Given the description of an element on the screen output the (x, y) to click on. 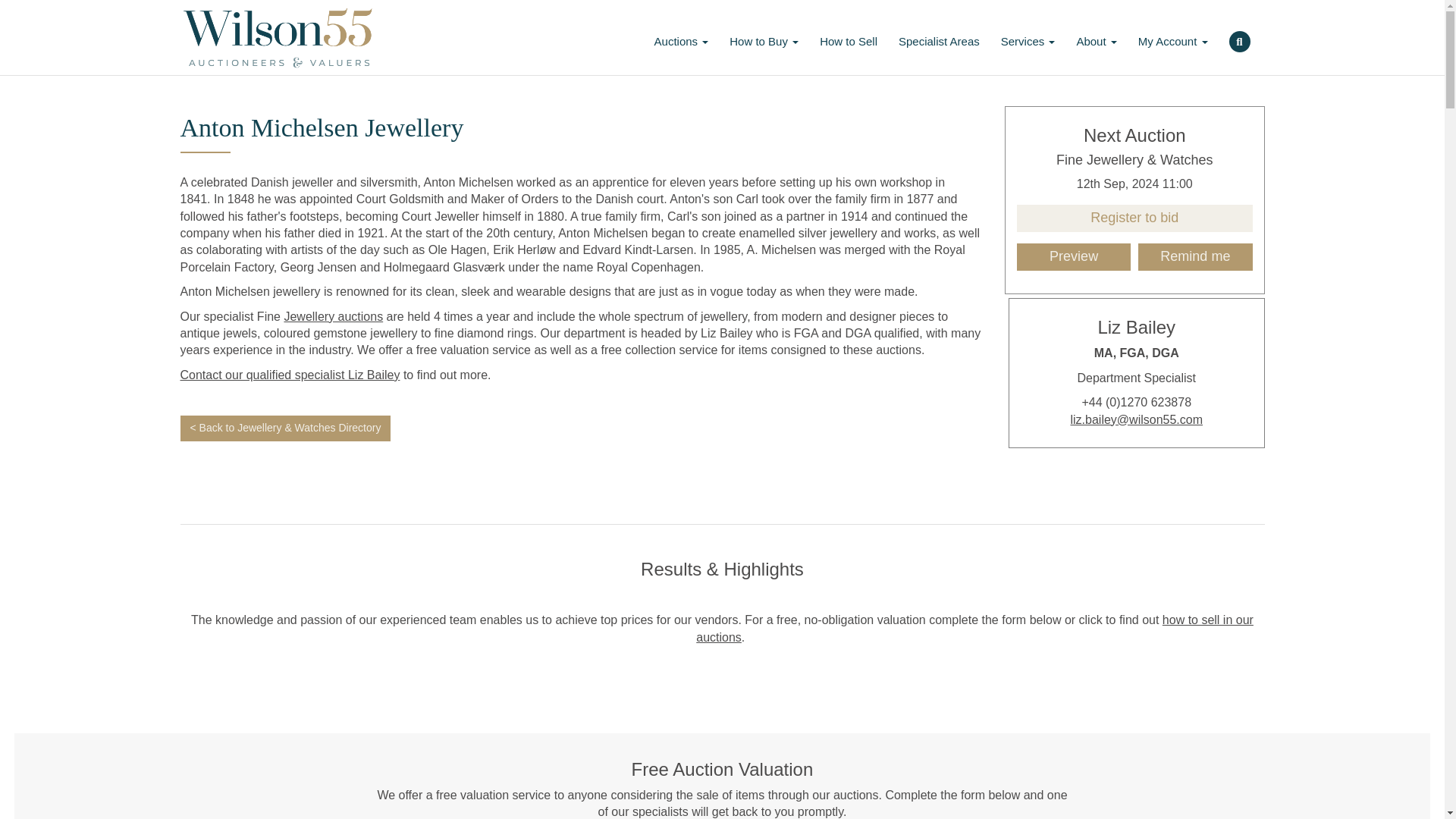
My Account (1172, 35)
Jewellery auctions (332, 316)
How to Sell (848, 35)
Register to bid (1134, 217)
Auctions (681, 35)
How to Buy (764, 35)
12th Sep, 2024 11:00 (1134, 183)
Contact our qualified specialist Liz Bailey (290, 374)
Services (1027, 35)
Specialist Areas (939, 35)
